Given the description of an element on the screen output the (x, y) to click on. 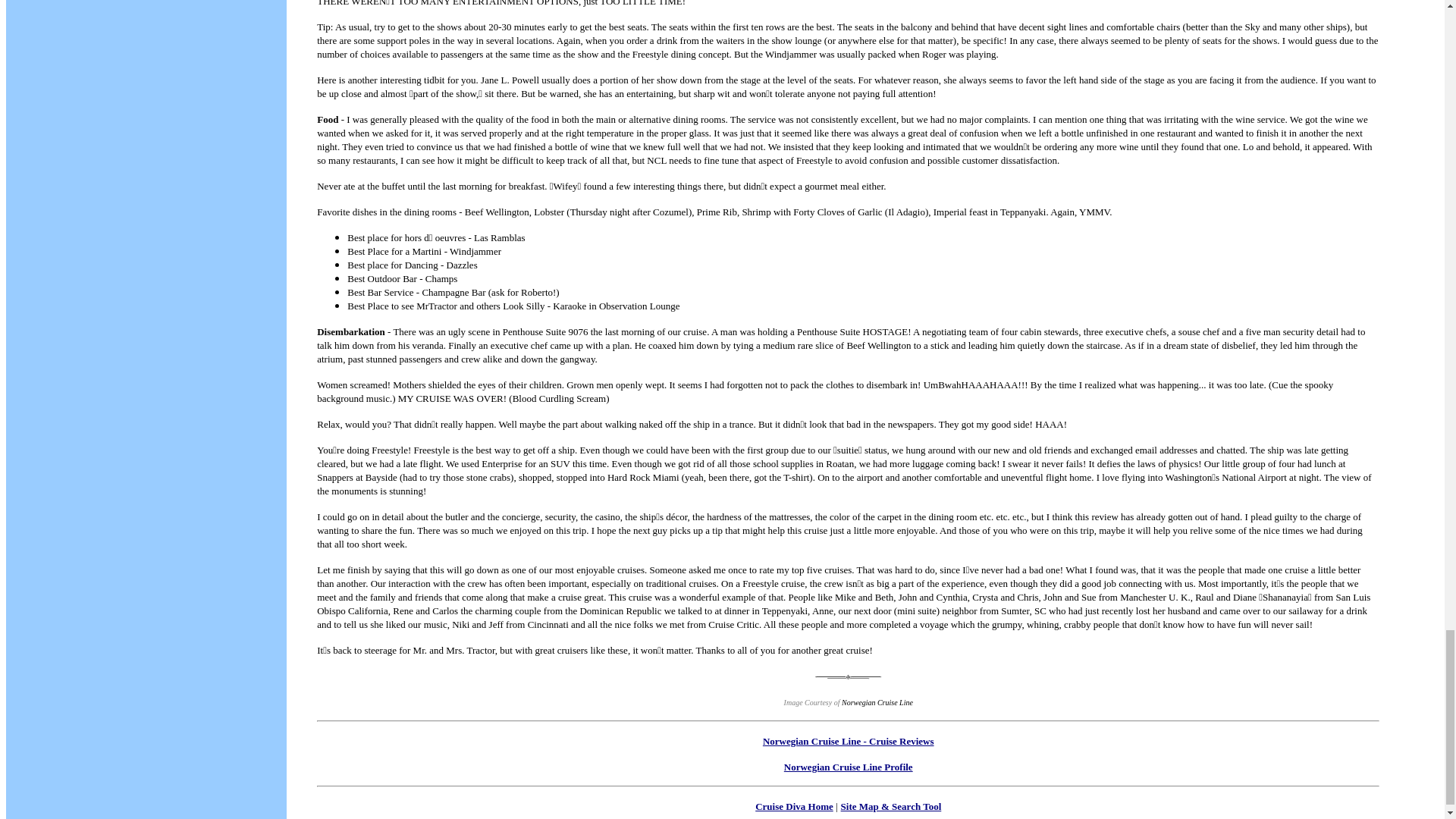
Norwegian Cruise Line - Cruise Reviews (848, 740)
Norwegian Cruise Line Profile (848, 767)
Cruise Diva Home (793, 806)
